Given the description of an element on the screen output the (x, y) to click on. 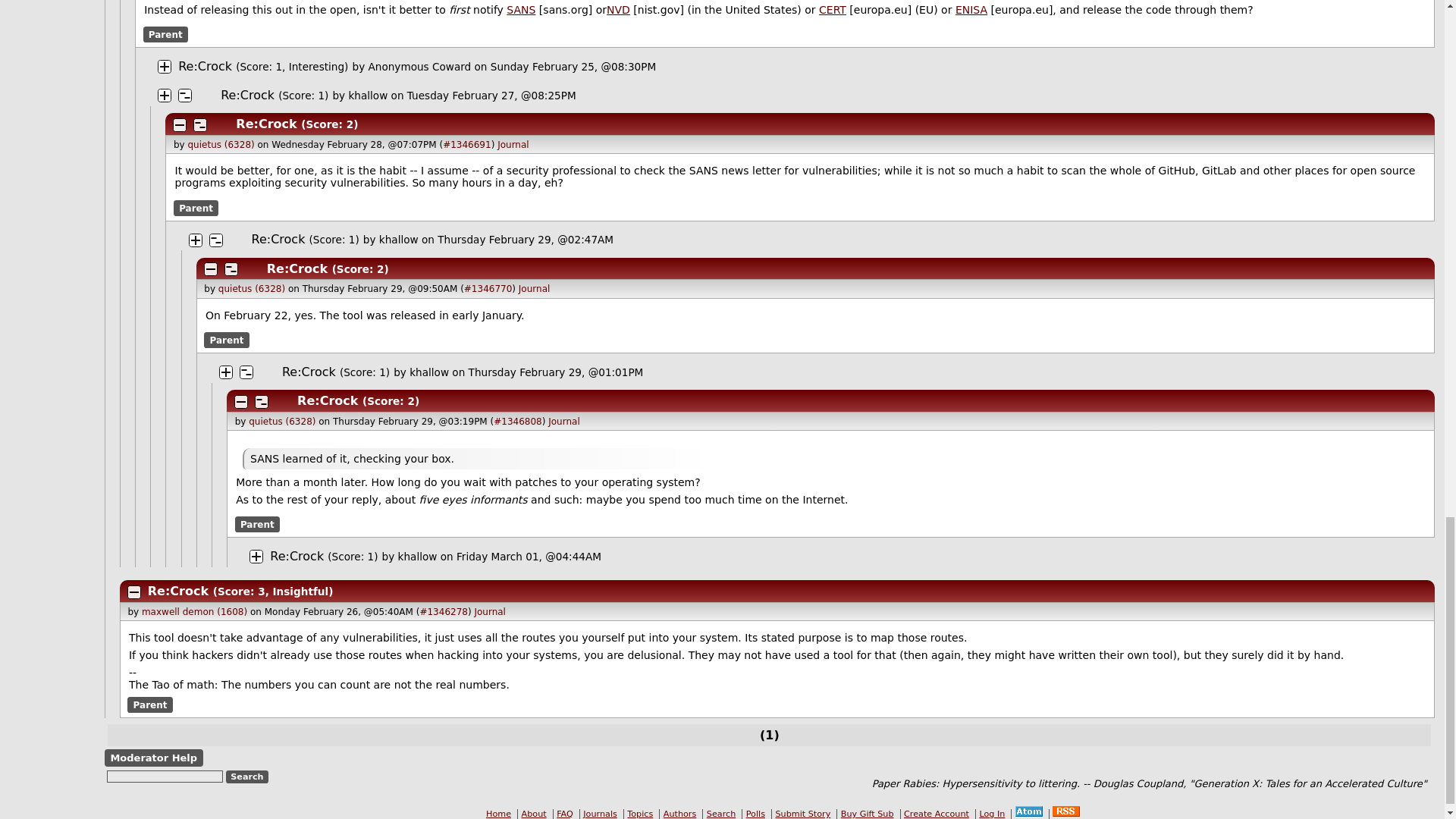
Search (247, 776)
